Given the description of an element on the screen output the (x, y) to click on. 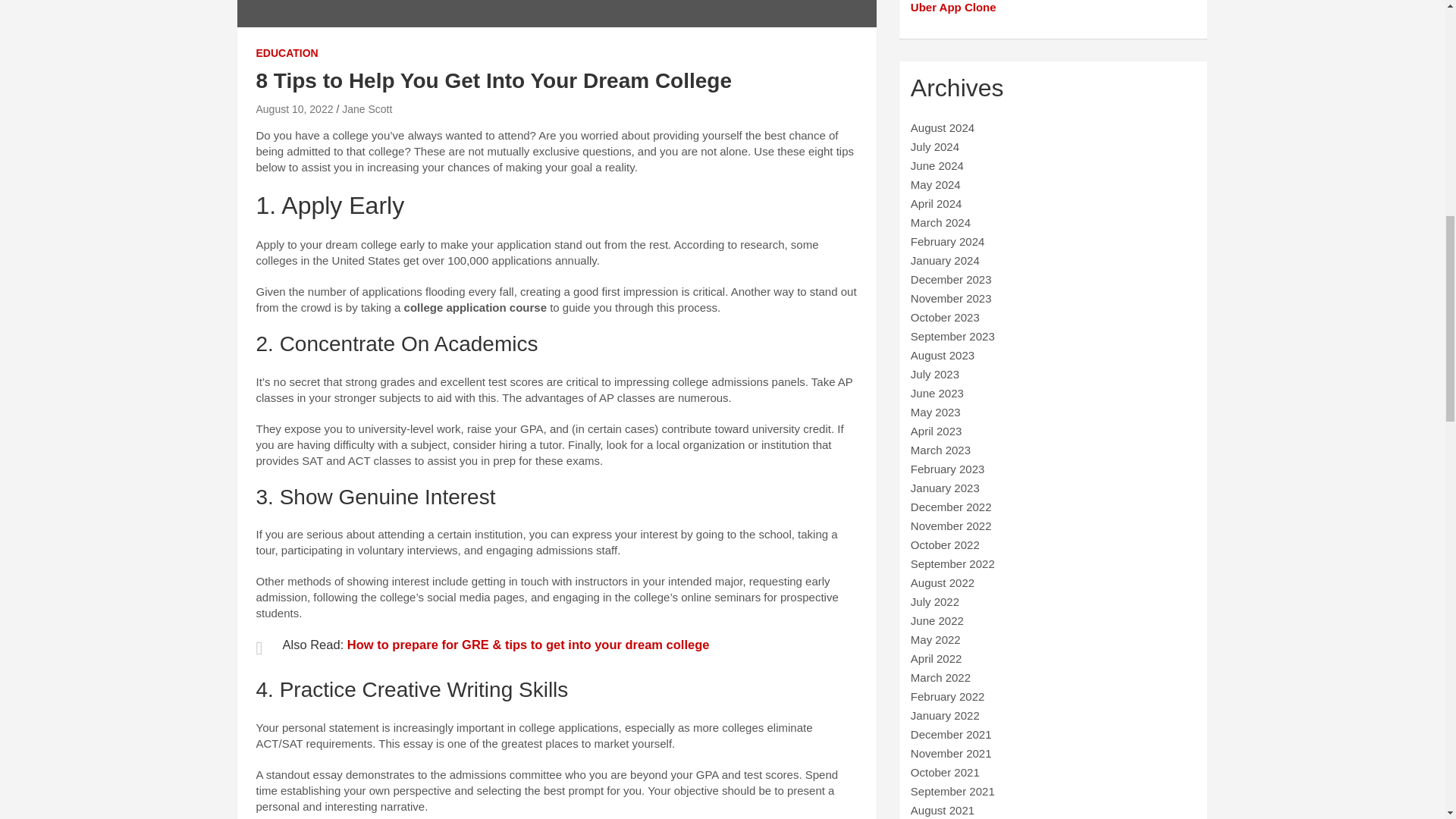
August 10, 2022 (294, 109)
8 Tips to Help You Get Into Your Dream College (294, 109)
Jane Scott (366, 109)
EDUCATION (287, 53)
